Given the description of an element on the screen output the (x, y) to click on. 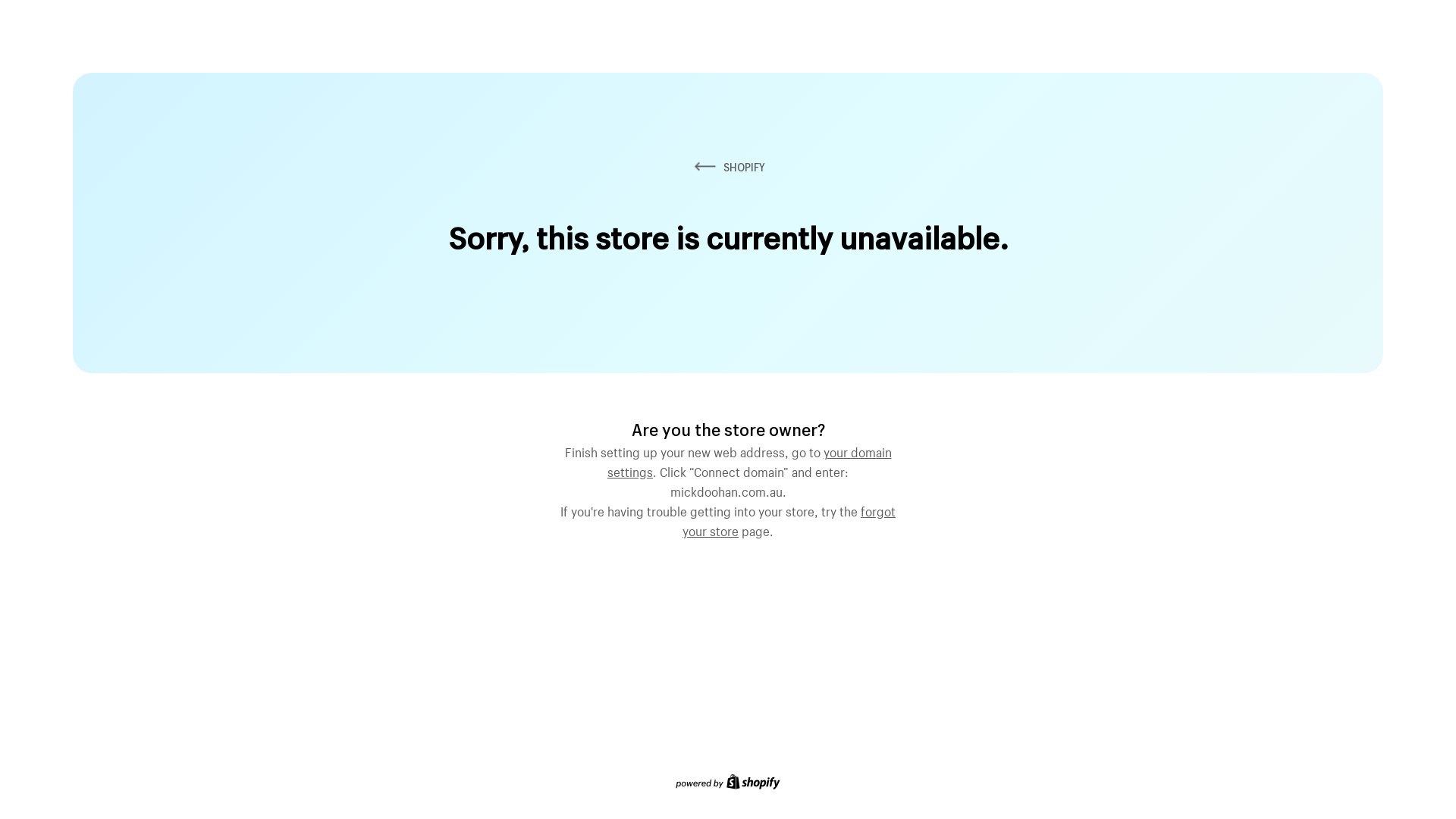
SHOPIFY Element type: text (727, 167)
forgot your store Element type: text (788, 519)
your domain settings Element type: text (749, 460)
